Given the description of an element on the screen output the (x, y) to click on. 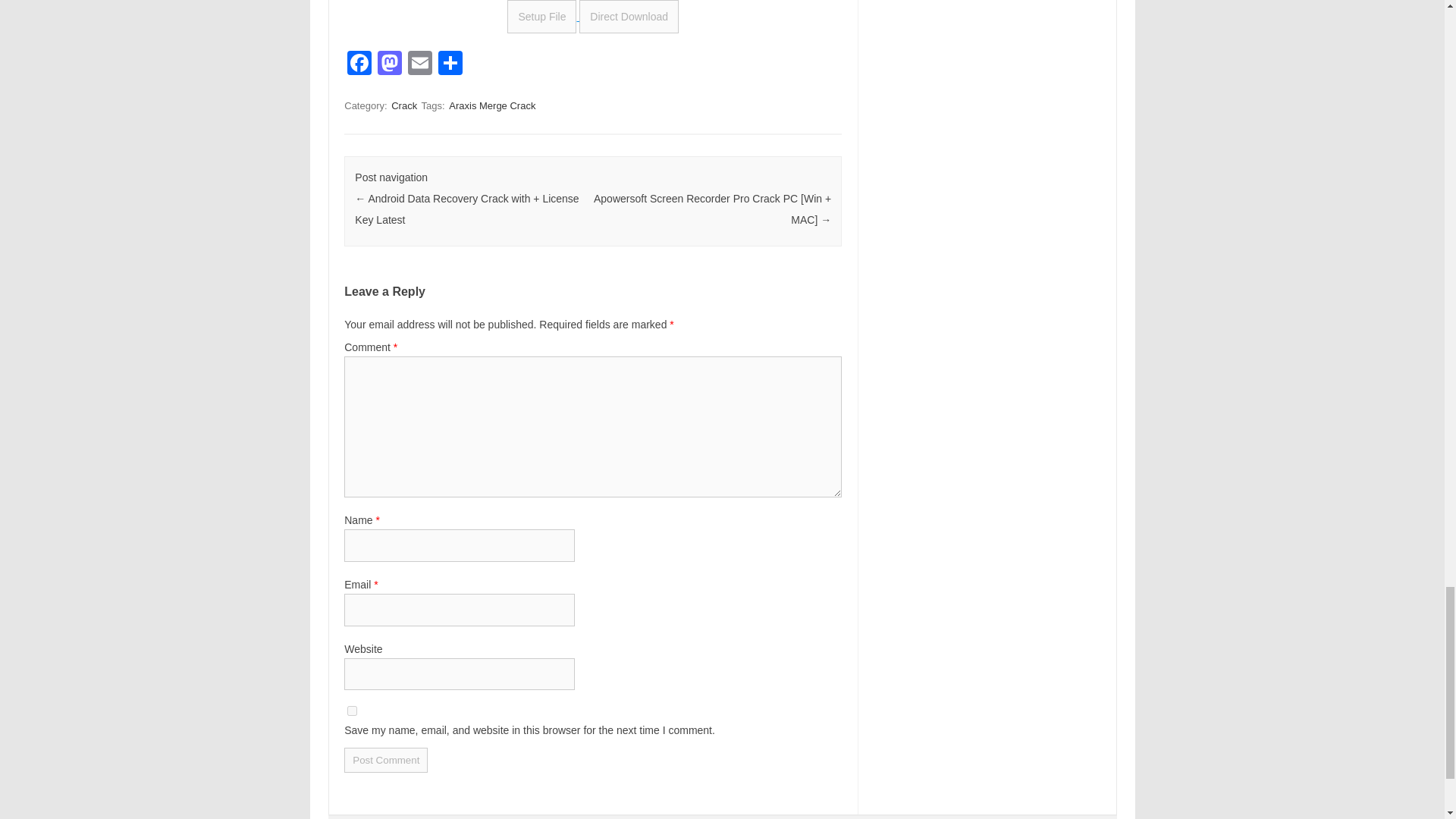
Post Comment (385, 760)
Email (419, 64)
Facebook (358, 64)
yes (351, 710)
Email (419, 64)
Direct Download (628, 16)
Mastodon (389, 64)
Crack (404, 105)
Facebook (358, 64)
Araxis Merge Crack (491, 105)
